Given the description of an element on the screen output the (x, y) to click on. 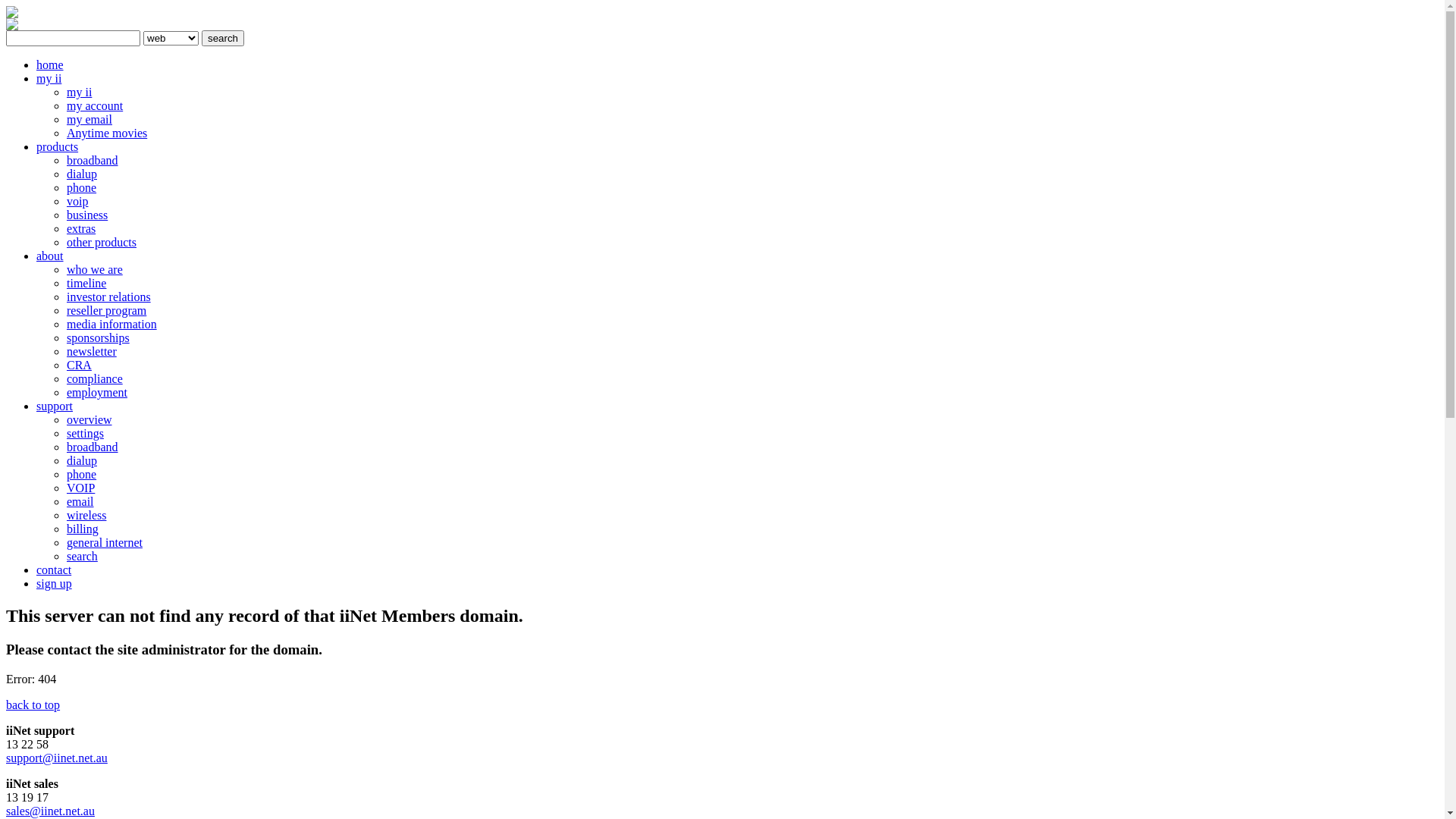
general internet Element type: text (104, 542)
overview Element type: text (89, 419)
phone Element type: text (81, 473)
sign up Element type: text (54, 583)
home Element type: text (49, 64)
investor relations Element type: text (108, 296)
sponsorships Element type: text (97, 337)
dialup Element type: text (81, 173)
billing Element type: text (82, 528)
newsletter Element type: text (91, 351)
voip Element type: text (76, 200)
my ii Element type: text (78, 91)
Anytime movies Element type: text (106, 132)
broadband Element type: text (92, 446)
settings Element type: text (84, 432)
media information Element type: text (111, 323)
employment Element type: text (96, 391)
my account Element type: text (94, 105)
my ii Element type: text (48, 78)
email Element type: text (80, 501)
contact Element type: text (53, 569)
broadband Element type: text (92, 159)
wireless Element type: text (86, 514)
phone Element type: text (81, 187)
products Element type: text (57, 146)
timeline Element type: text (86, 282)
sales@iinet.net.au Element type: text (50, 810)
business Element type: text (86, 214)
support Element type: text (54, 405)
other products Element type: text (101, 241)
dialup Element type: text (81, 460)
about Element type: text (49, 255)
VOIP Element type: text (80, 487)
search Element type: text (81, 555)
compliance Element type: text (94, 378)
support@iinet.net.au Element type: text (56, 757)
back to top Element type: text (32, 704)
reseller program Element type: text (106, 310)
who we are Element type: text (94, 269)
my email Element type: text (89, 118)
CRA Element type: text (78, 364)
extras Element type: text (80, 228)
search Element type: text (222, 38)
